Given the description of an element on the screen output the (x, y) to click on. 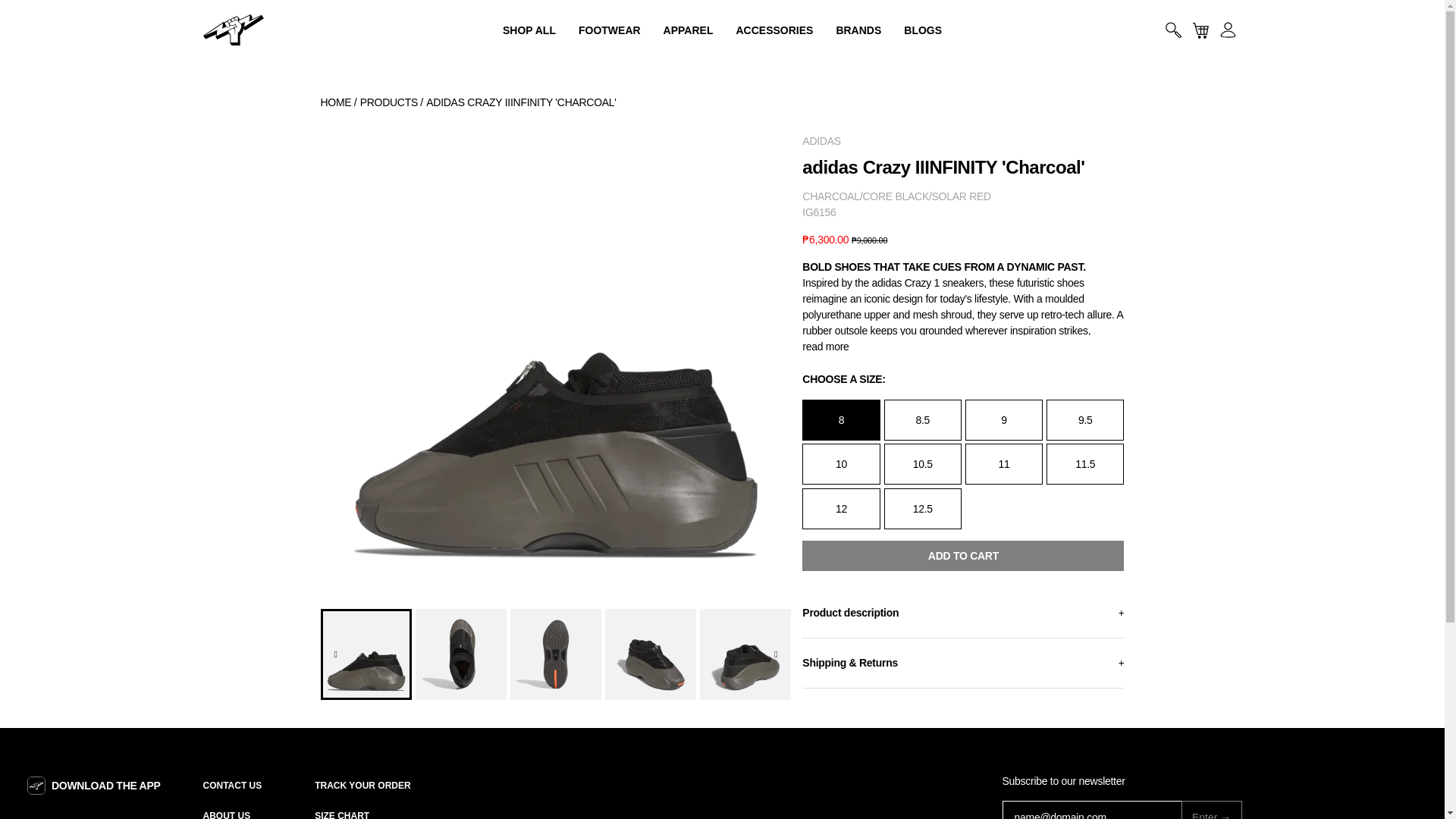
APPAREL (688, 30)
SHOP ALL (529, 30)
TITAN (233, 29)
SHOP ALL (529, 30)
ACCESSORIES (233, 29)
FOOTWEAR (773, 30)
BRANDS (609, 30)
